Given the description of an element on the screen output the (x, y) to click on. 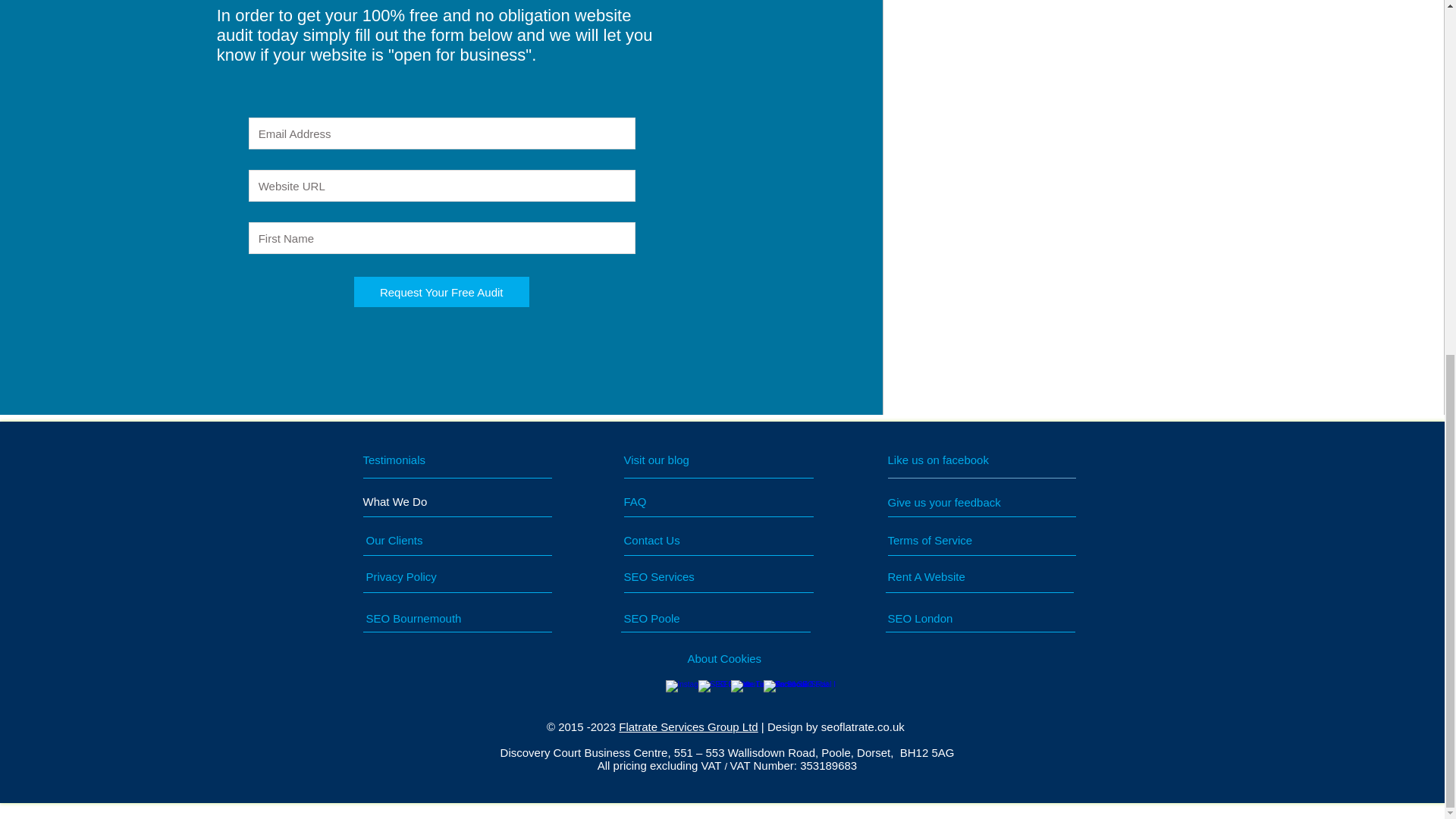
What We Do (419, 501)
Give us your feedback (949, 502)
Request Your Free Audit (441, 291)
Visit our blog (689, 459)
Rent A Website (949, 576)
FAQ (666, 501)
Like us on facebook (954, 459)
Terms of Service (949, 539)
Contact Us (680, 539)
Our Clients (422, 539)
Privacy Policy (428, 576)
